Given the description of an element on the screen output the (x, y) to click on. 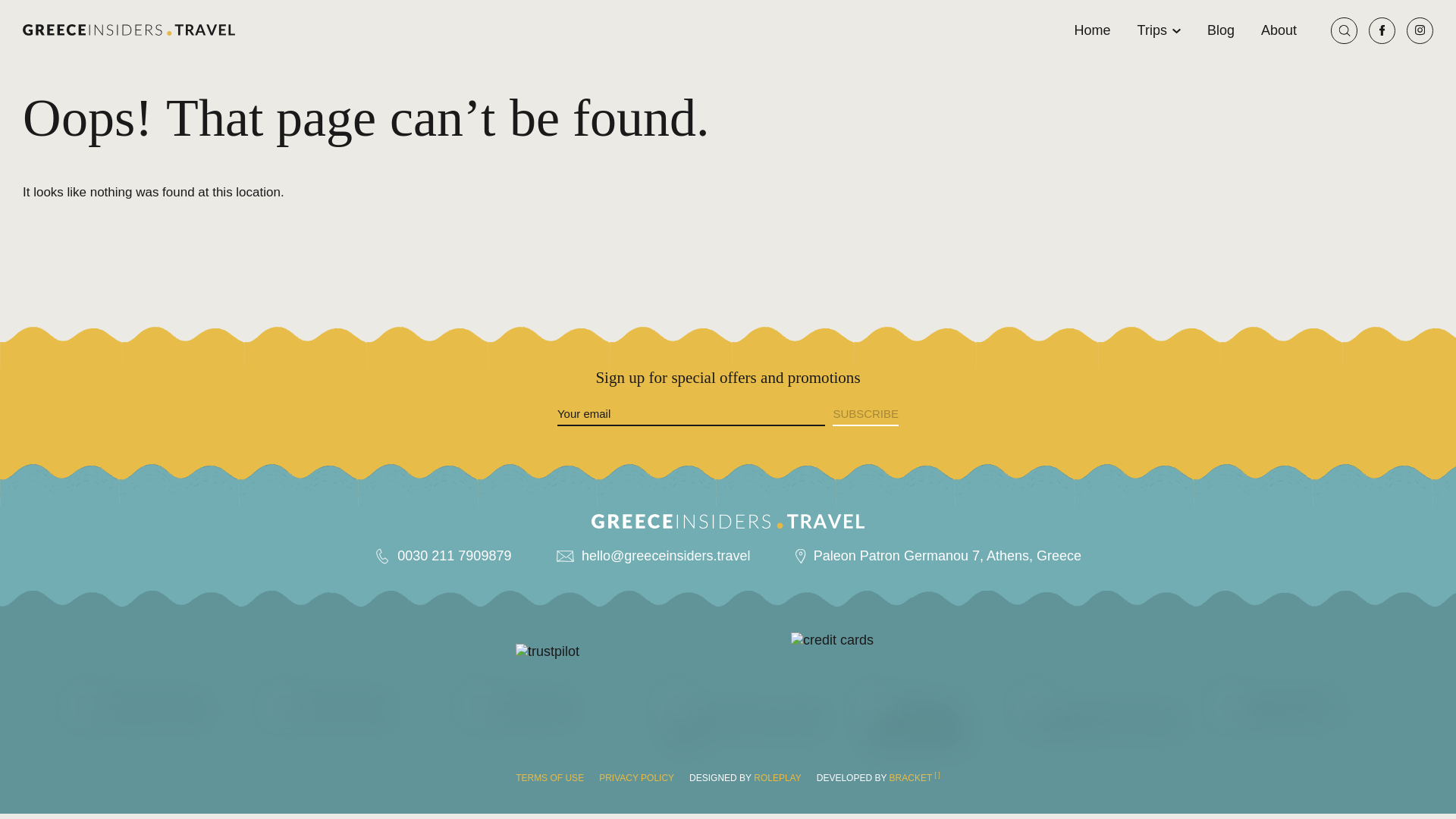
Trips (1158, 29)
Blog (1220, 29)
logo (1103, 723)
logo (727, 521)
instagram (1419, 29)
SUBSCRIBE (865, 413)
0030 211 7909879 (454, 555)
TERMS OF USE (549, 777)
logo (924, 723)
homepage (128, 30)
logo (550, 723)
Paleon Patron Germanou 7, Athens, Greece (947, 555)
facebook (1381, 29)
PRIVACY POLICY (636, 777)
logo (155, 723)
